Given the description of an element on the screen output the (x, y) to click on. 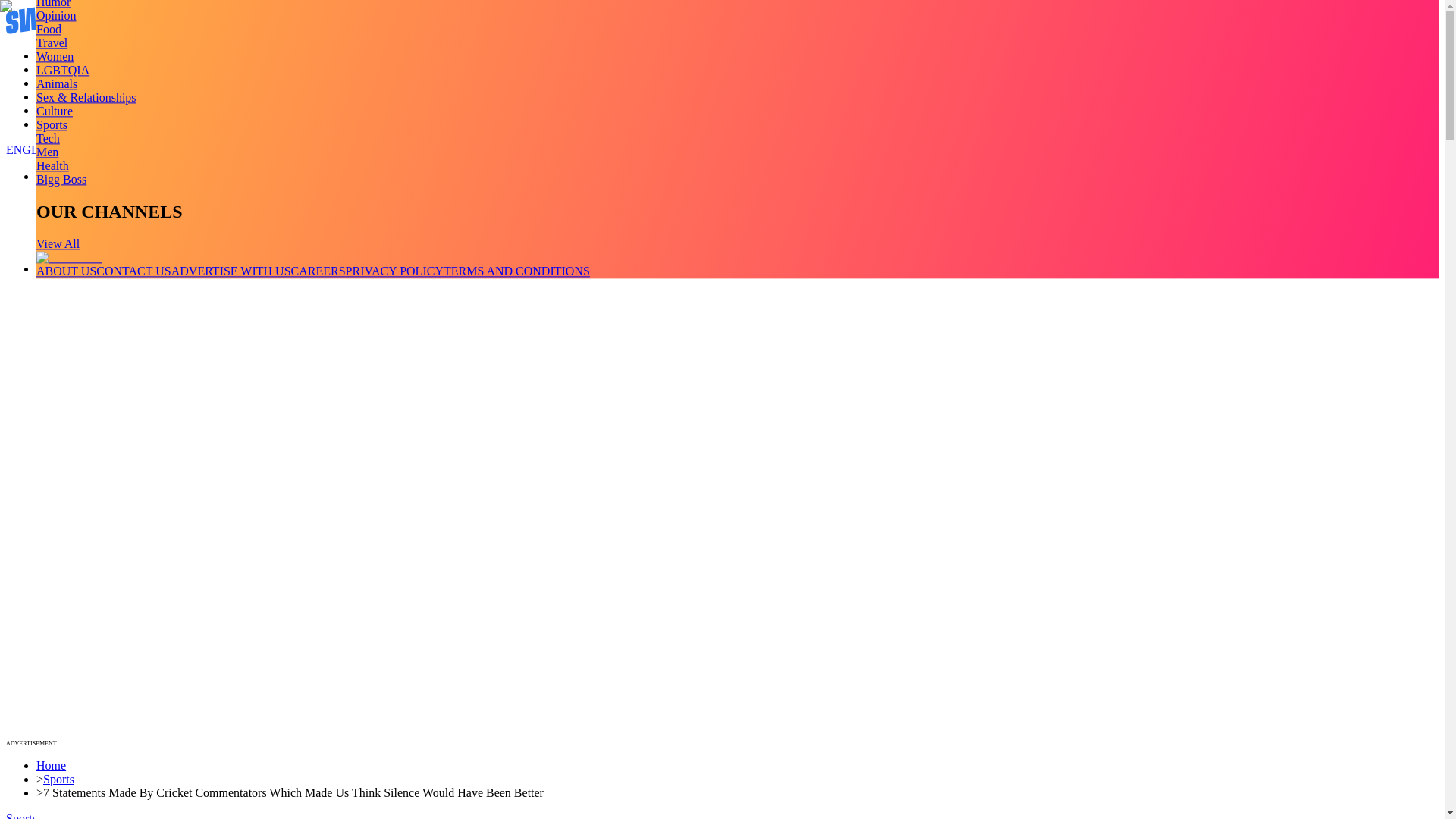
Bigg Boss (60, 178)
Food (48, 29)
Animals (56, 83)
Humor (52, 4)
Culture (54, 110)
Videos (52, 69)
Sports (51, 124)
Trending (58, 55)
Stories (52, 82)
ADVERTISE WITH US (231, 270)
Opinion (55, 15)
ABOUT US (66, 270)
CONTACT US (133, 270)
Spotlight (58, 123)
Memes (53, 110)
